Given the description of an element on the screen output the (x, y) to click on. 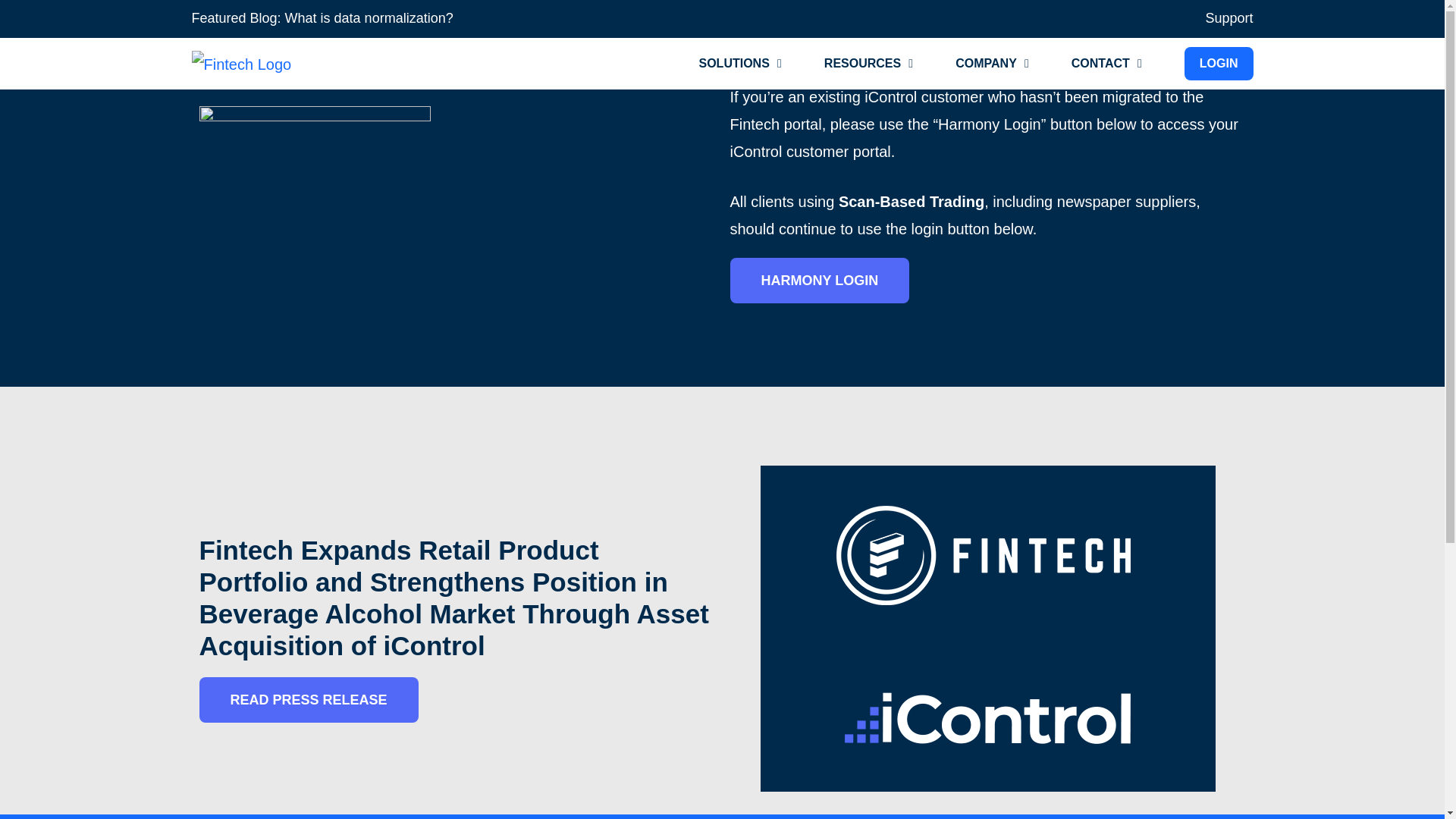
Support (1228, 17)
Fintech-Logo (285, 63)
Featured Blog: What is data normalization? (321, 17)
RESOURCES (862, 63)
LOGIN (1219, 63)
READ PRESS RELEASE (307, 699)
HARMONY LOGIN (818, 280)
CONTACT (1100, 63)
COMPANY (985, 63)
SOLUTIONS (734, 63)
